Given the description of an element on the screen output the (x, y) to click on. 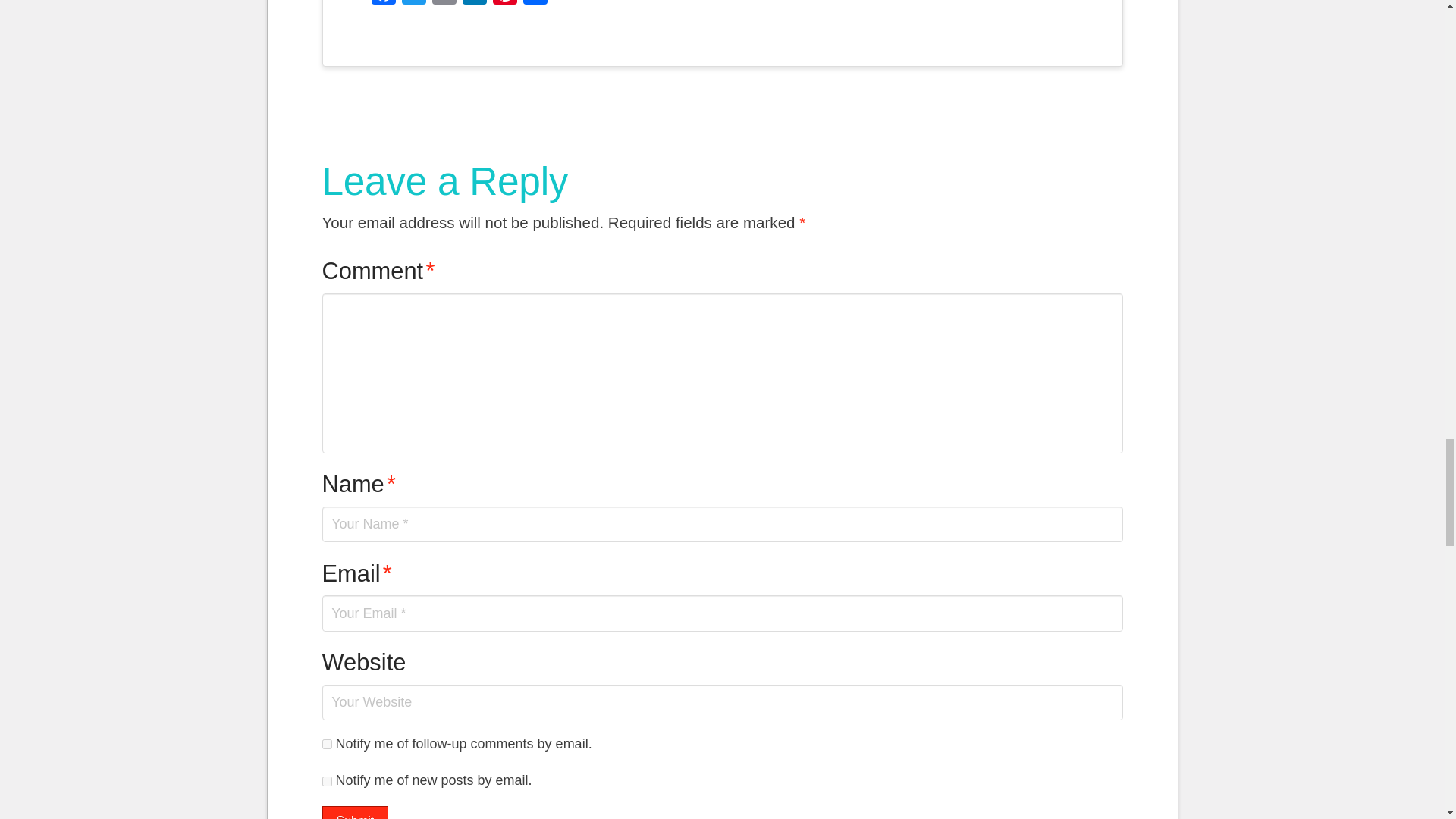
Submit (354, 812)
subscribe (326, 744)
subscribe (326, 781)
